Given the description of an element on the screen output the (x, y) to click on. 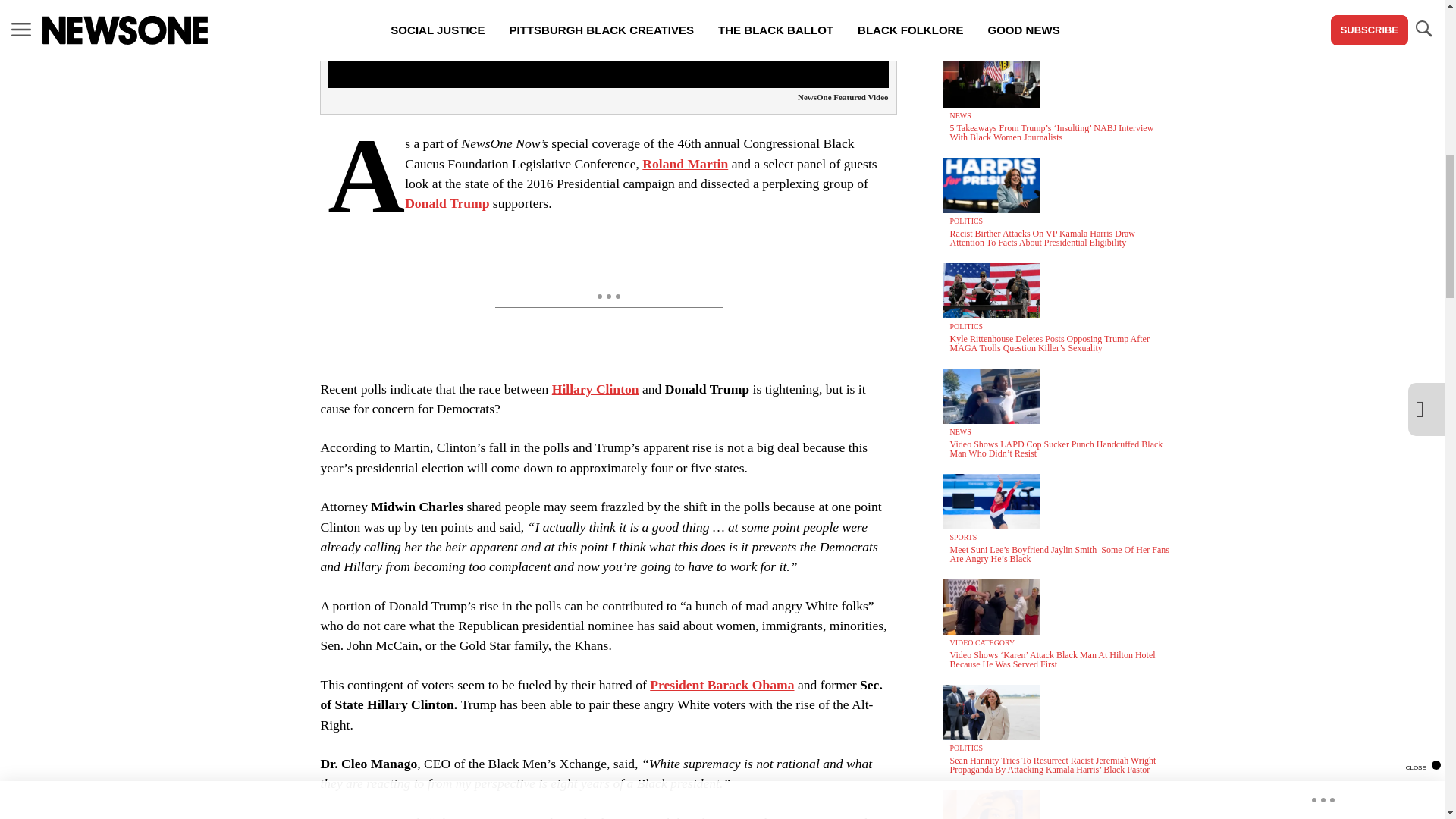
Donald Trump (446, 202)
Hillary Clinton (595, 388)
President Barack Obama (721, 684)
Roland Martin (685, 163)
